Given the description of an element on the screen output the (x, y) to click on. 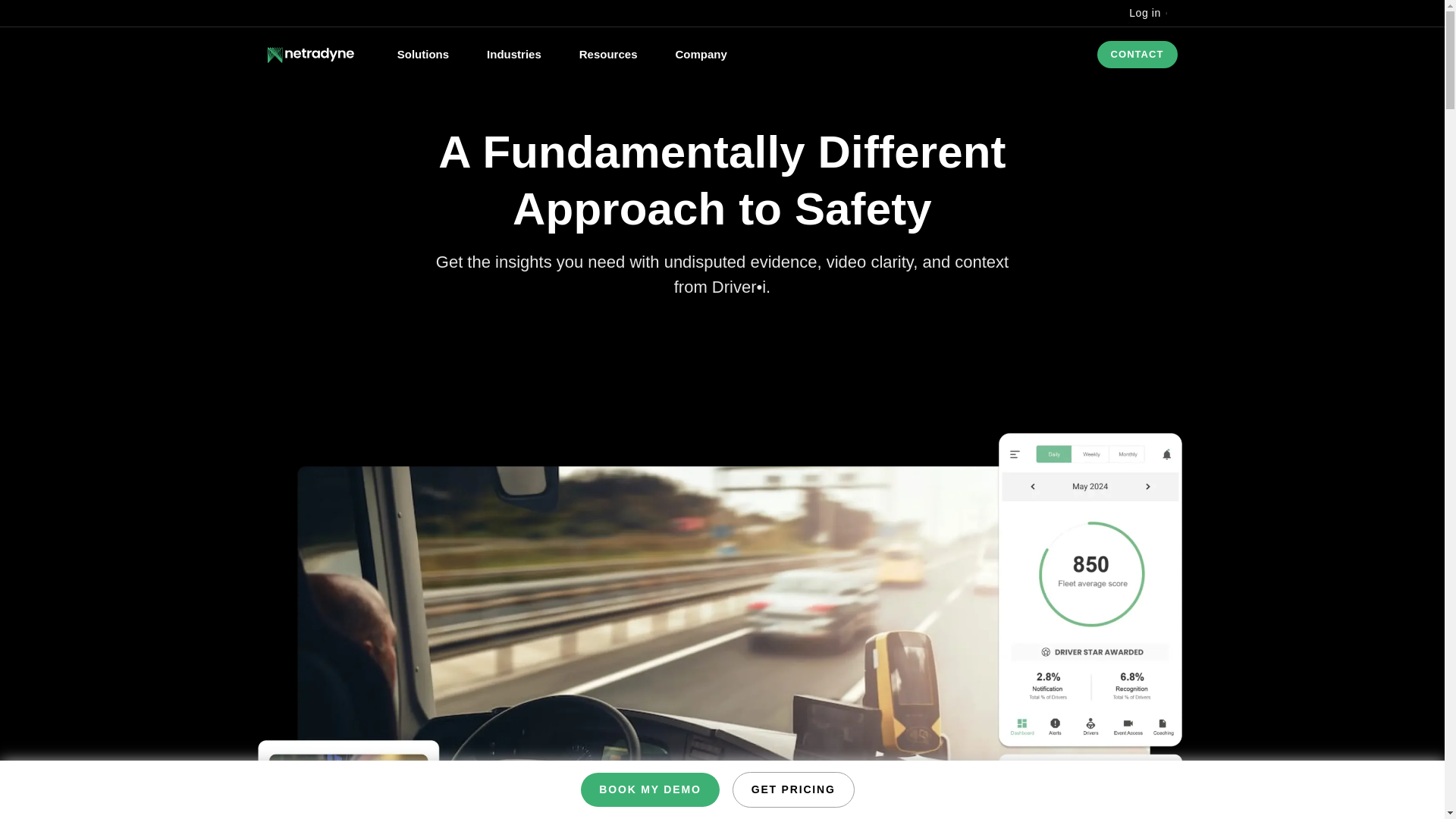
CONTACT (1136, 53)
Netradyne Logo (309, 55)
Netradyne Logo (309, 54)
